Given the description of an element on the screen output the (x, y) to click on. 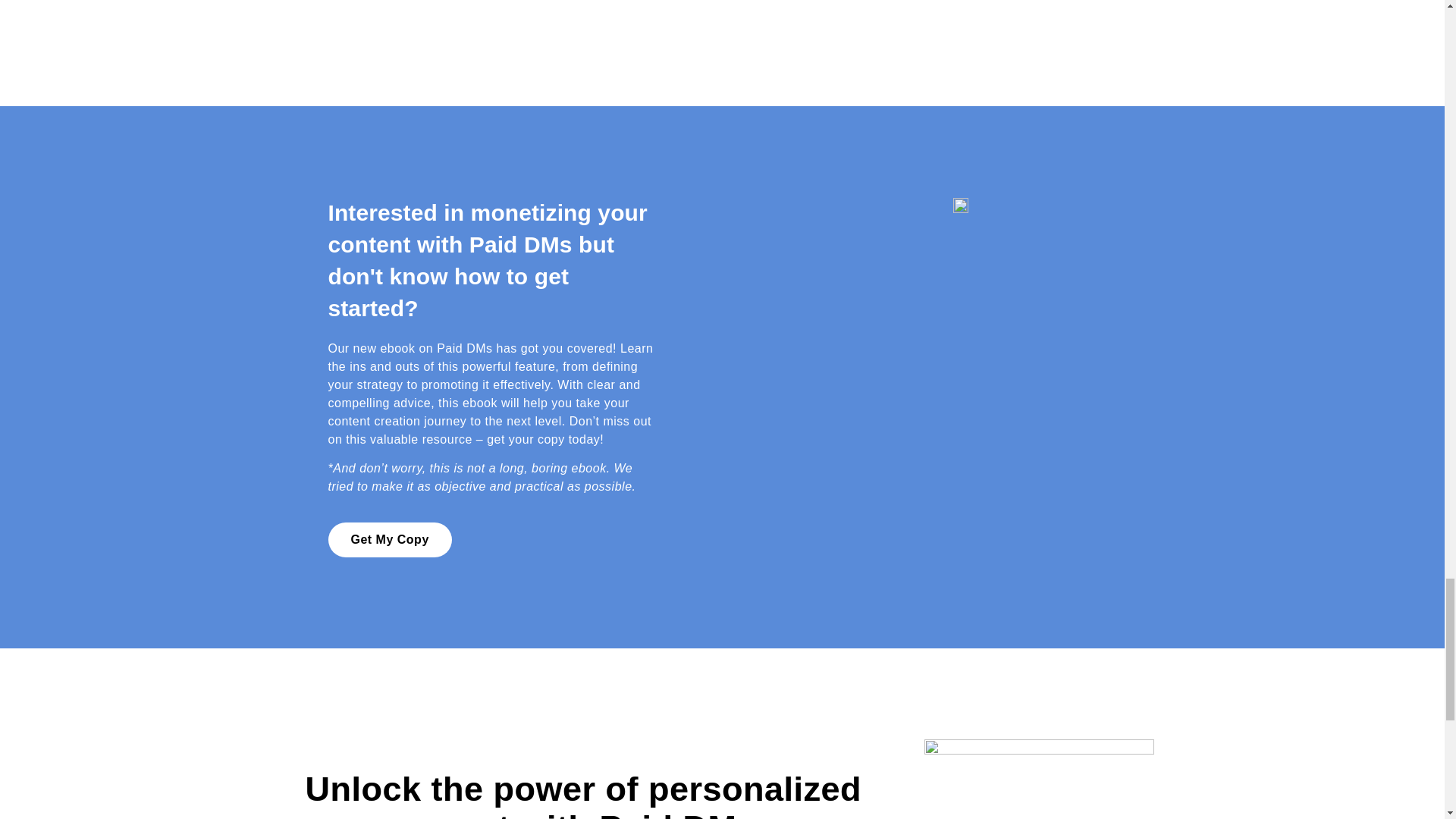
Get My Copy (389, 539)
